Given the description of an element on the screen output the (x, y) to click on. 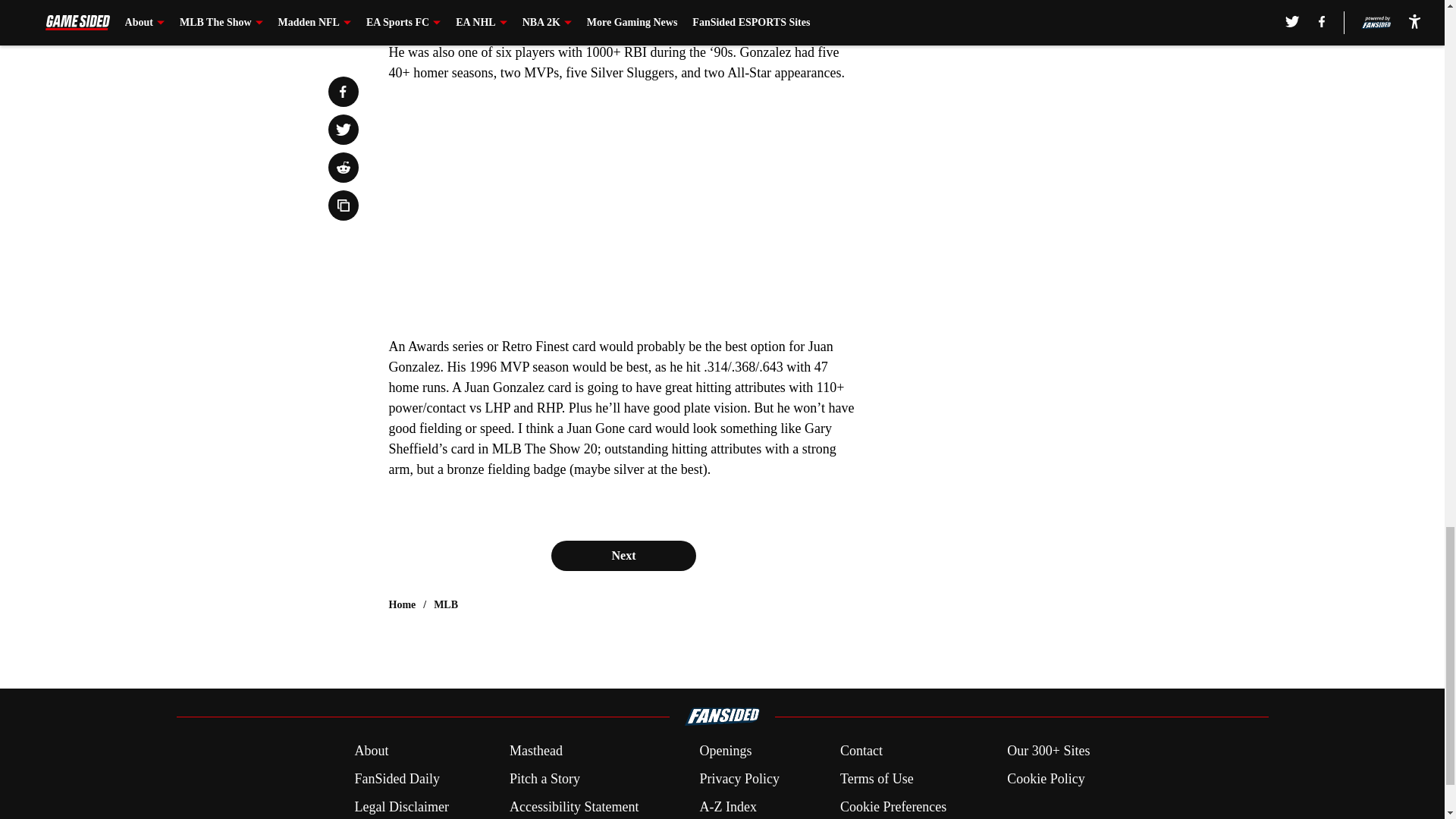
Privacy Policy (738, 779)
About (370, 751)
Terms of Use (877, 779)
Contact (861, 751)
Openings (724, 751)
Next (622, 555)
Masthead (535, 751)
FanSided Daily (396, 779)
Home (401, 604)
Pitch a Story (544, 779)
MLB (445, 604)
